Given the description of an element on the screen output the (x, y) to click on. 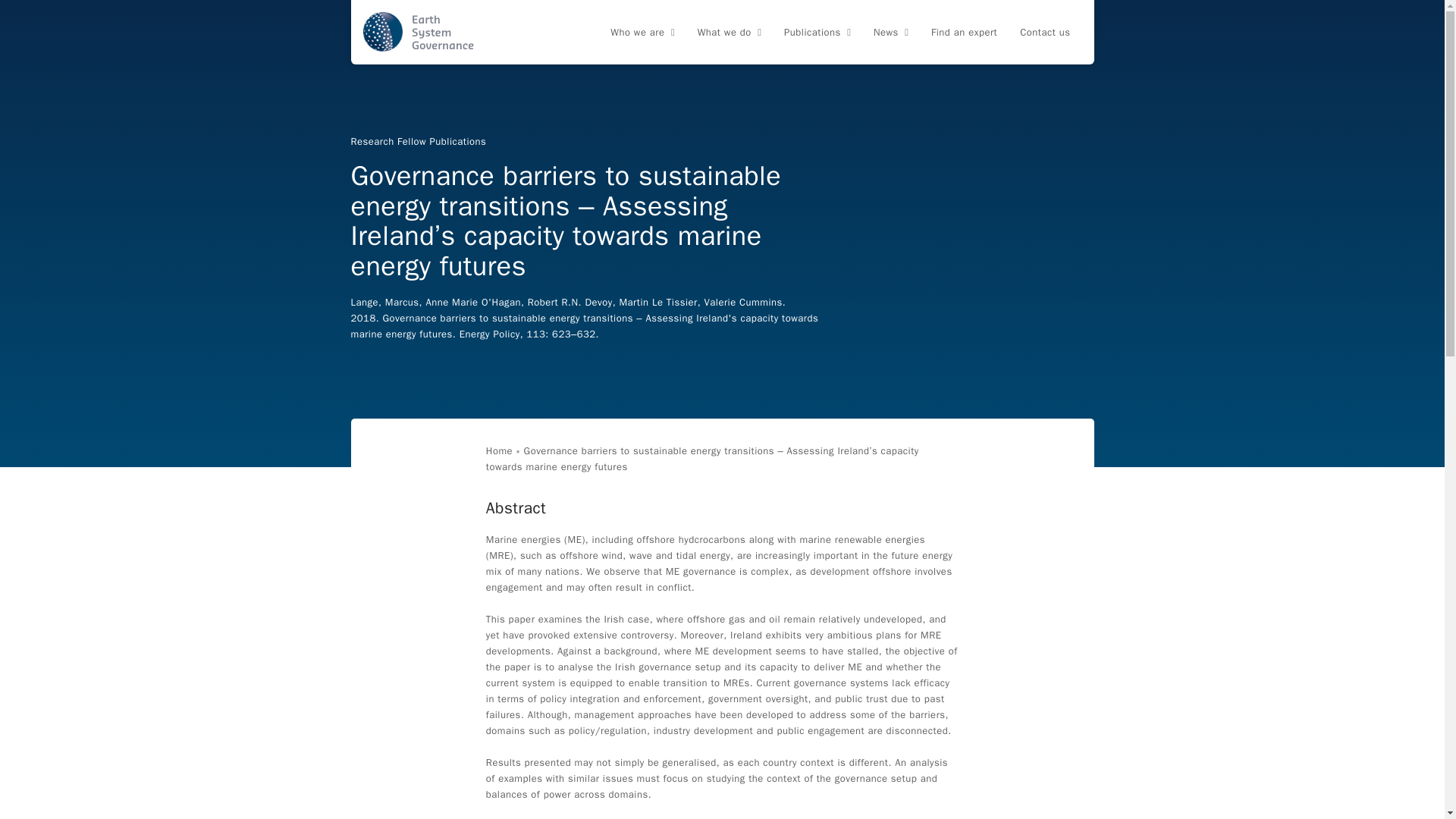
News (890, 32)
Publications (817, 32)
Contact us (1045, 32)
What we do (729, 32)
Find an expert (964, 32)
Who we are (641, 32)
Research Fellow Publications (418, 141)
Home (499, 450)
